Given the description of an element on the screen output the (x, y) to click on. 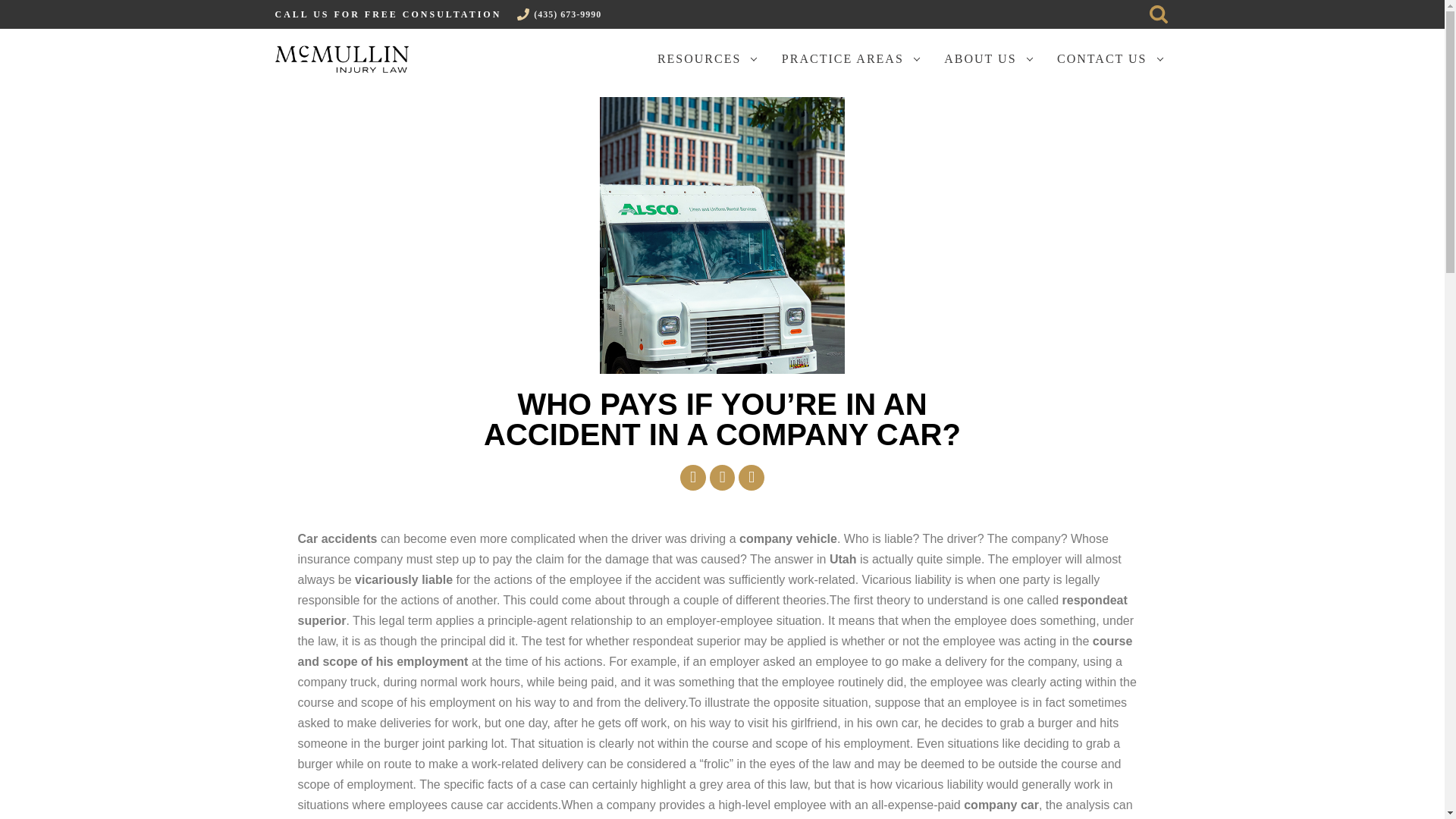
RESOURCES (702, 58)
Search (1158, 14)
